Given the description of an element on the screen output the (x, y) to click on. 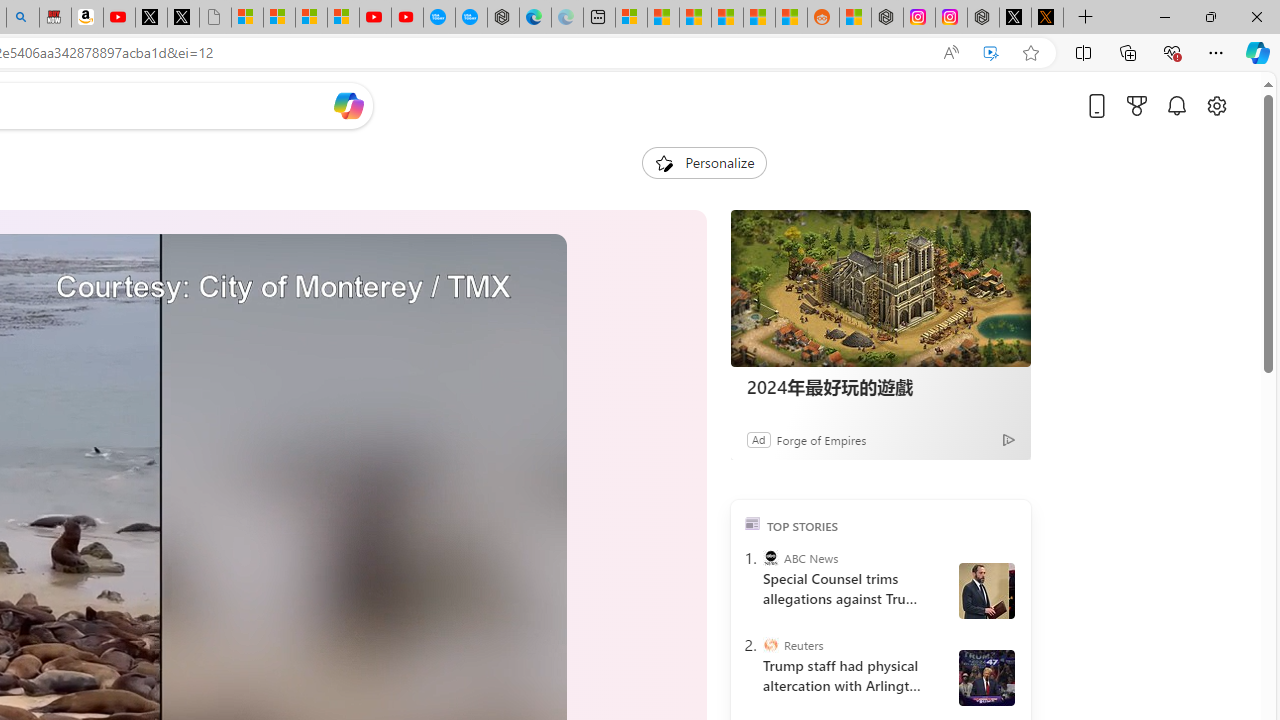
Untitled (215, 17)
help.x.com | 524: A timeout occurred (1047, 17)
Day 1: Arriving in Yemen (surreal to be here) - YouTube (118, 17)
ABC News (770, 557)
Reuters (770, 645)
